Given the description of an element on the screen output the (x, y) to click on. 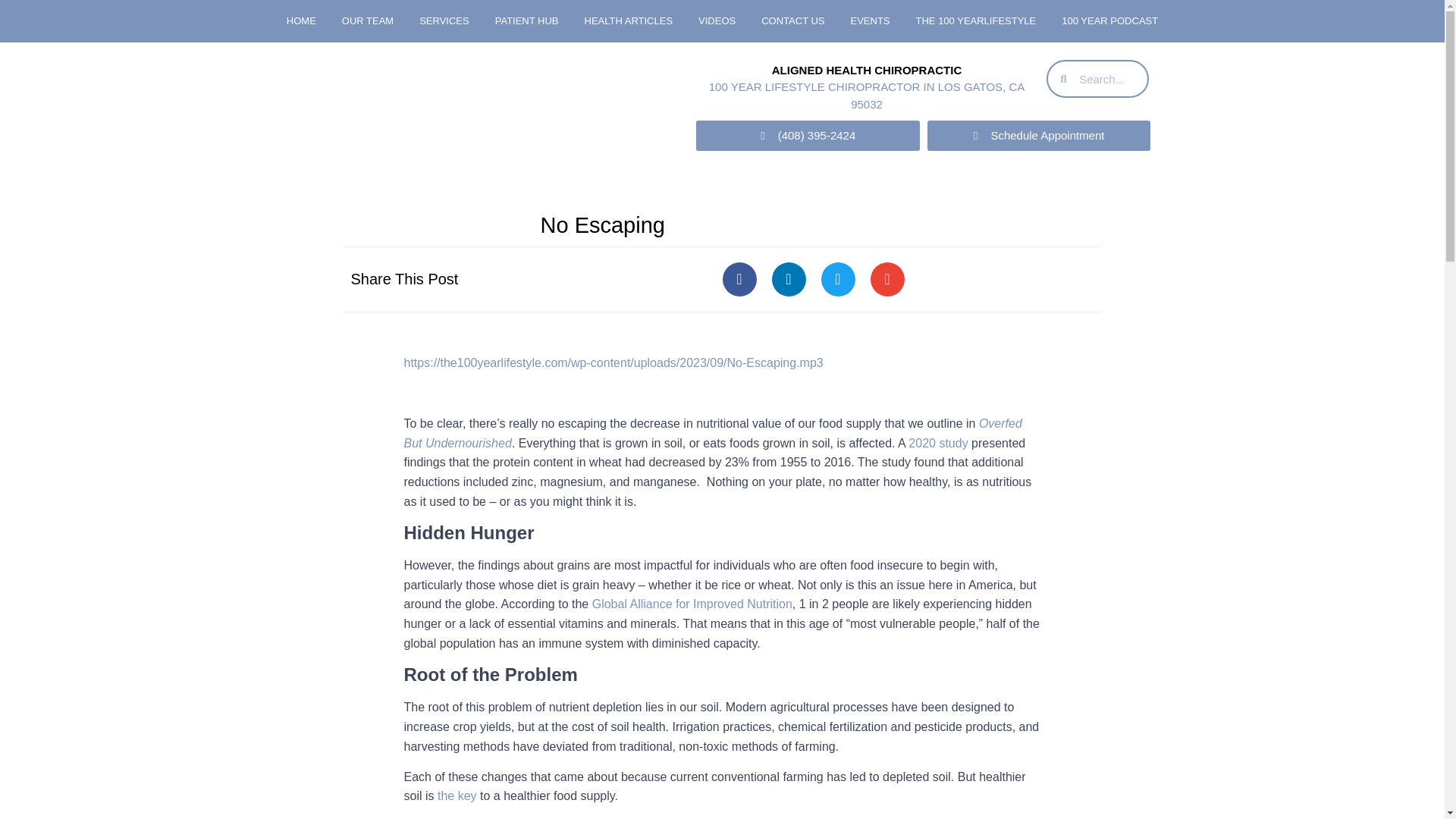
HOME (301, 21)
SERVICES (443, 21)
PATIENT HUB (526, 21)
HEALTH ARTICLES (628, 21)
OUR TEAM (367, 21)
